Given the description of an element on the screen output the (x, y) to click on. 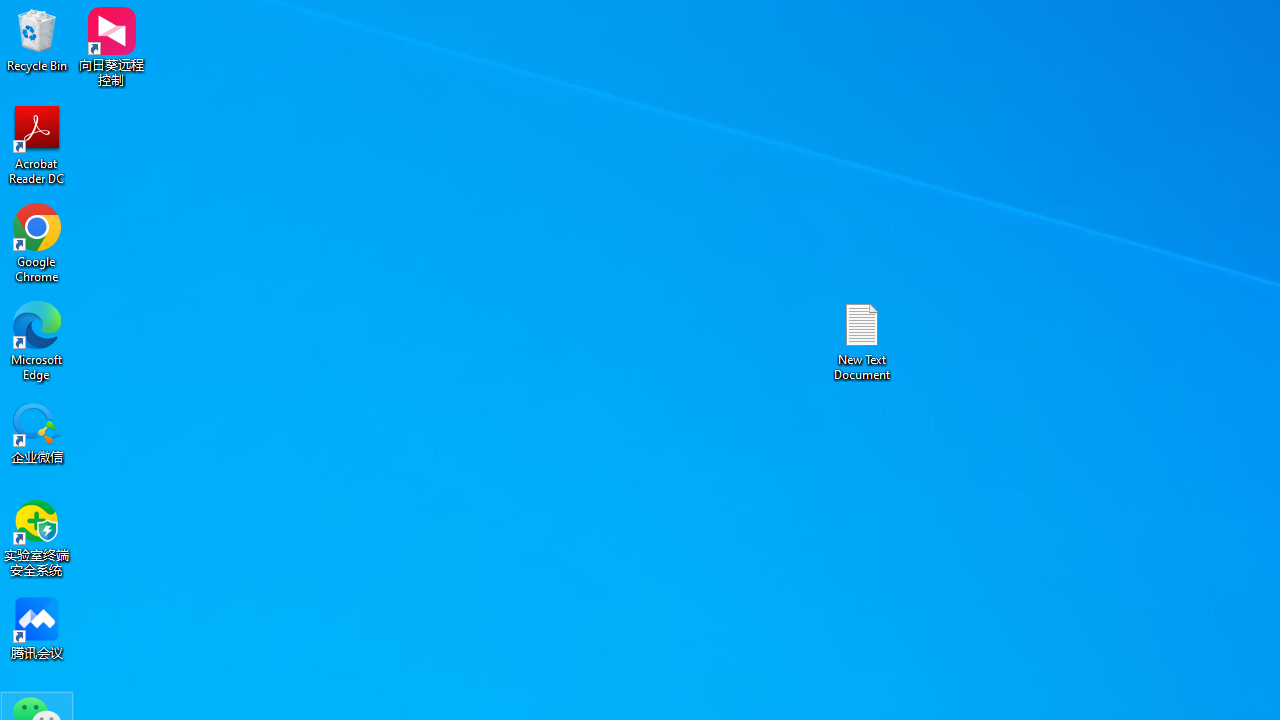
Microsoft Edge (37, 340)
Recycle Bin (37, 39)
Google Chrome (37, 242)
New Text Document (861, 340)
Acrobat Reader DC (37, 144)
